Given the description of an element on the screen output the (x, y) to click on. 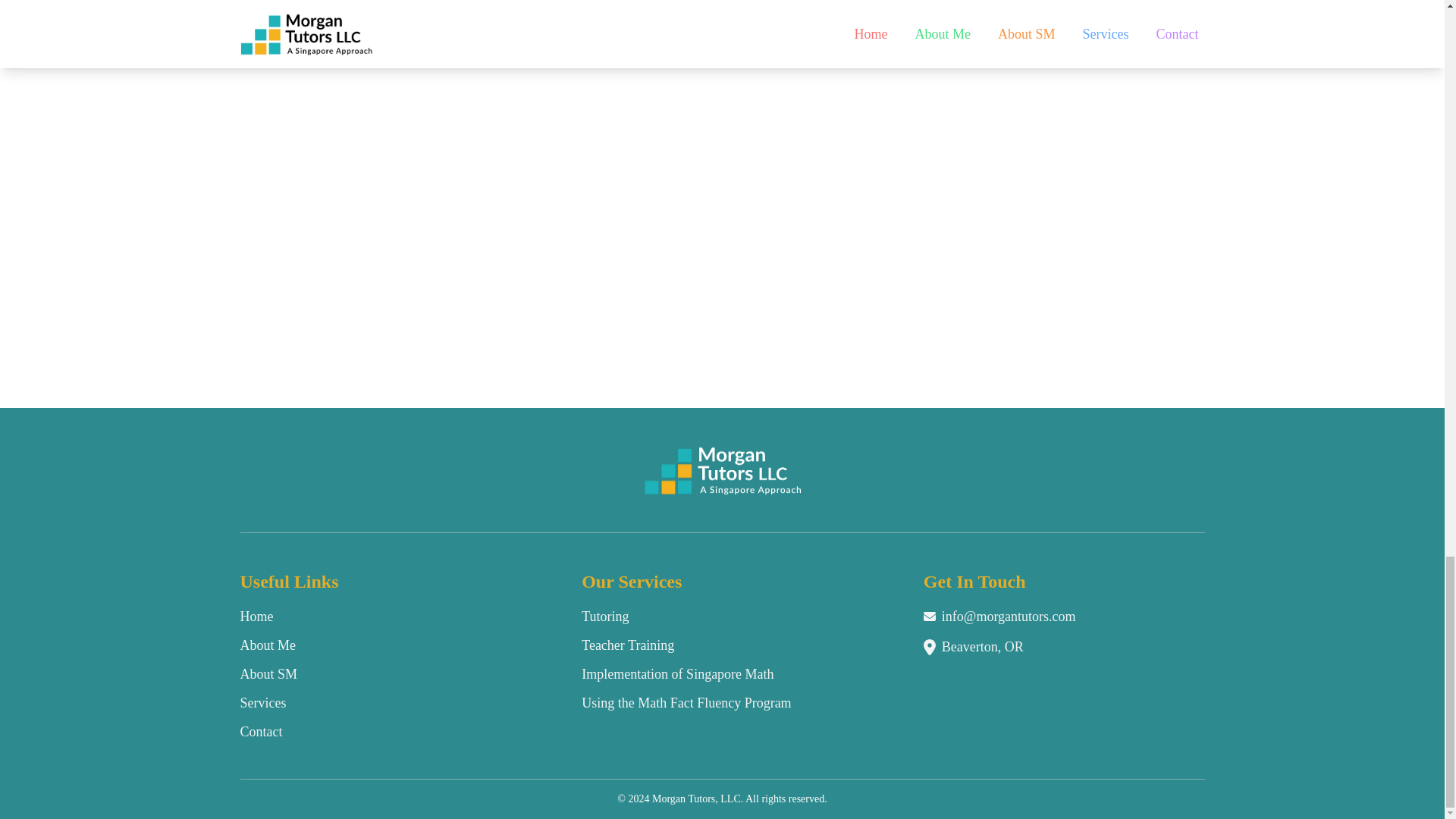
Home (256, 616)
Teacher Training (627, 645)
About SM (268, 673)
Services (262, 702)
Using the Math Fact Fluency Program (685, 702)
Contact (261, 731)
About Me (267, 645)
Tutoring (604, 616)
Implementation of Singapore Math (676, 673)
